Given the description of an element on the screen output the (x, y) to click on. 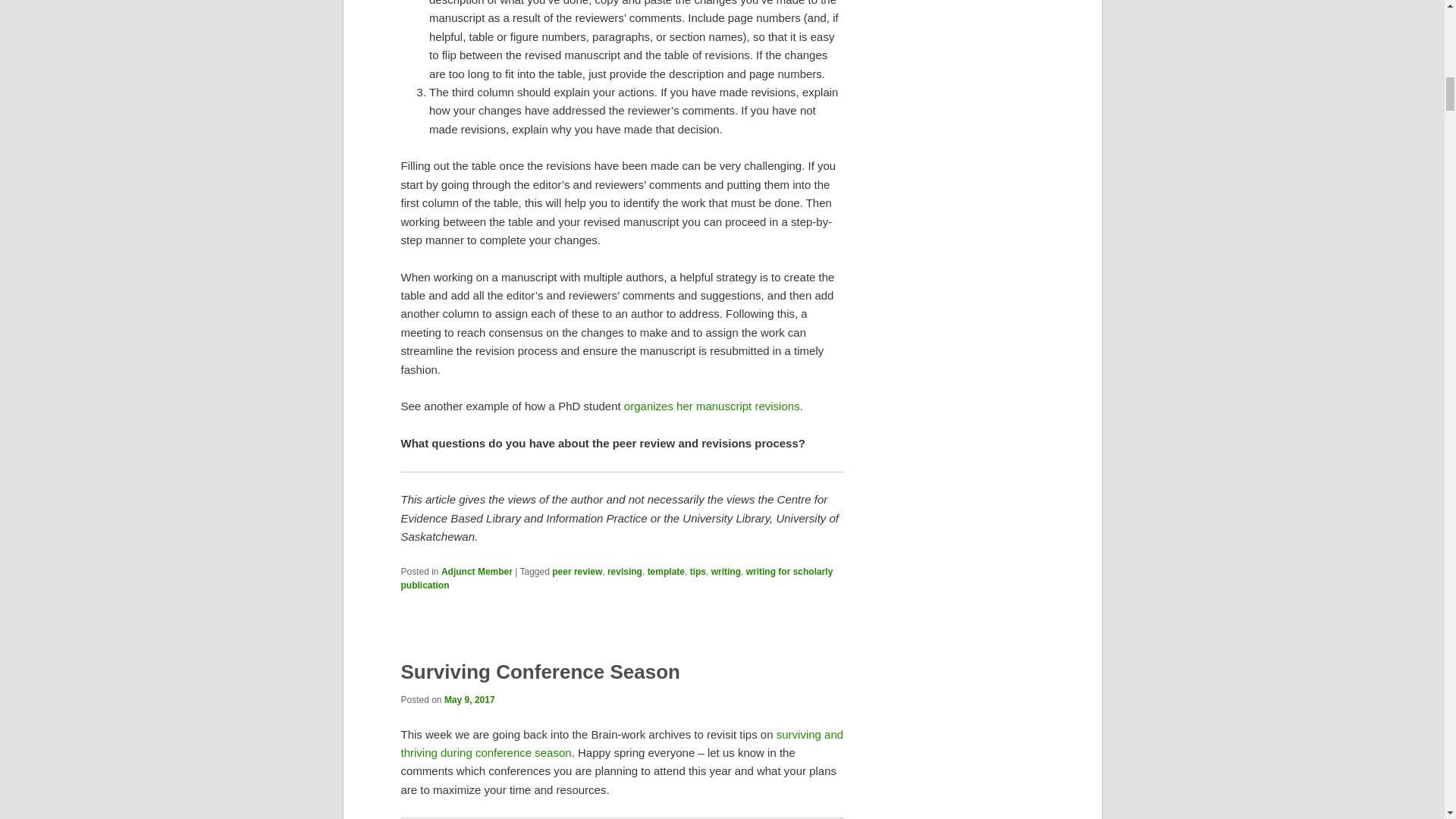
surviving and thriving during conference season (621, 743)
May 9, 2017 (469, 699)
10:00 am (469, 699)
writing for scholarly publication (616, 578)
revising (624, 571)
Adjunct Member (476, 571)
Surviving Conference Season (539, 671)
template (665, 571)
peer review (576, 571)
writing (726, 571)
